Given the description of an element on the screen output the (x, y) to click on. 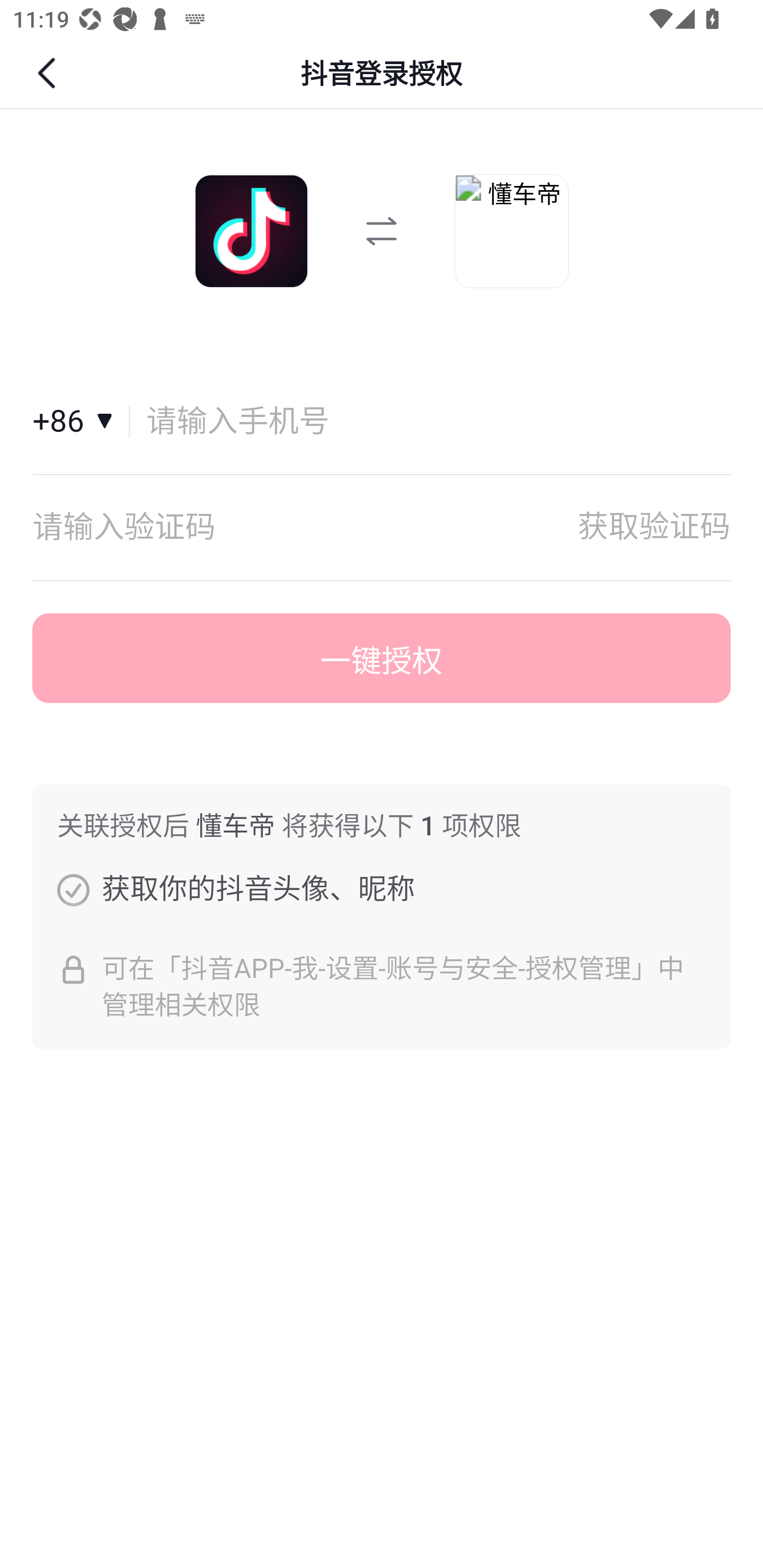
返回 (49, 72)
国家和地区+86 (81, 421)
获取验证码 (653, 526)
一键授权 (381, 658)
获取你的抖音头像、昵称 (72, 889)
